Given the description of an element on the screen output the (x, y) to click on. 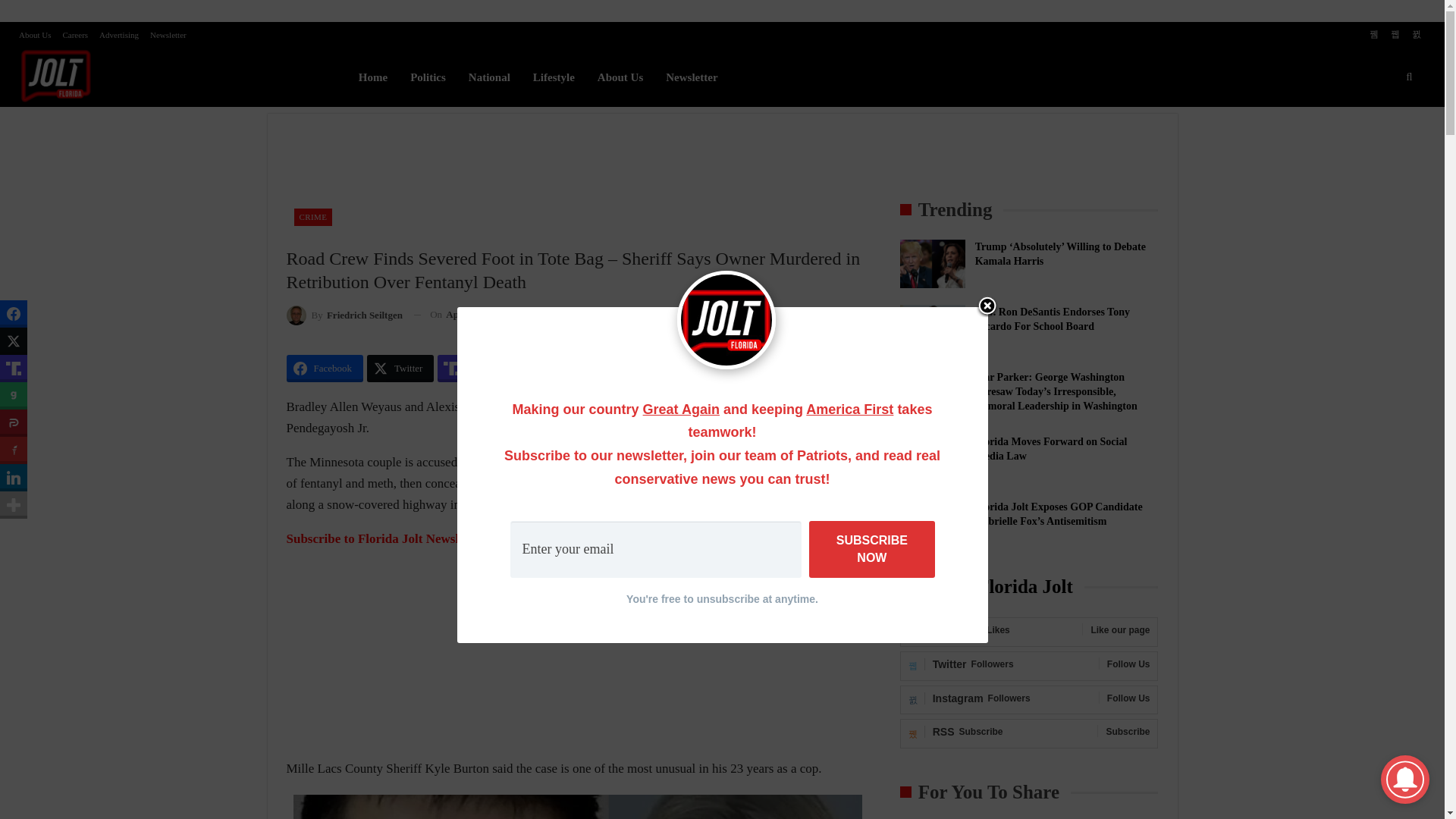
Share on LinkedIn (726, 368)
Subscribe Now (871, 549)
CRIME (313, 217)
Truth (467, 368)
About Us (619, 77)
Share on Facebook (325, 368)
Twitter (399, 368)
About Us (34, 34)
Browse Author Articles (344, 314)
Share on Twitter (399, 368)
National (489, 77)
Print (633, 314)
Share on Gettr (656, 368)
Newsletter (167, 34)
Share on Gab (529, 368)
